Given the description of an element on the screen output the (x, y) to click on. 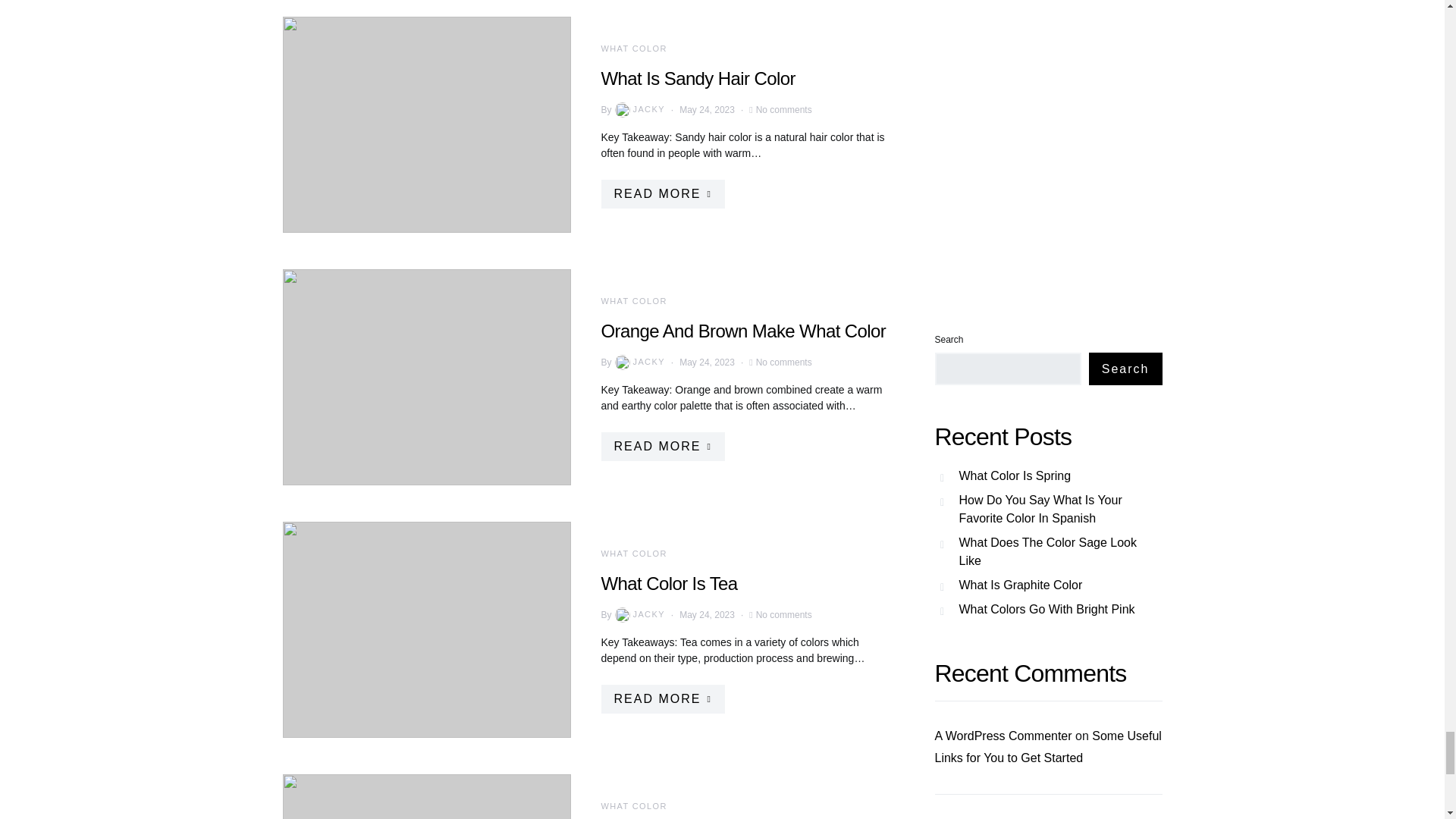
READ MORE (661, 193)
WHAT COLOR (632, 299)
No comments (783, 110)
JACKY (638, 109)
View all posts by Jacky (638, 362)
No comments (783, 361)
View all posts by Jacky (638, 109)
READ MORE (661, 446)
Orange And Brown Make What Color (742, 330)
View all posts by Jacky (638, 613)
What Is Sandy Hair Color (696, 77)
WHAT COLOR (632, 48)
JACKY (638, 362)
